Given the description of an element on the screen output the (x, y) to click on. 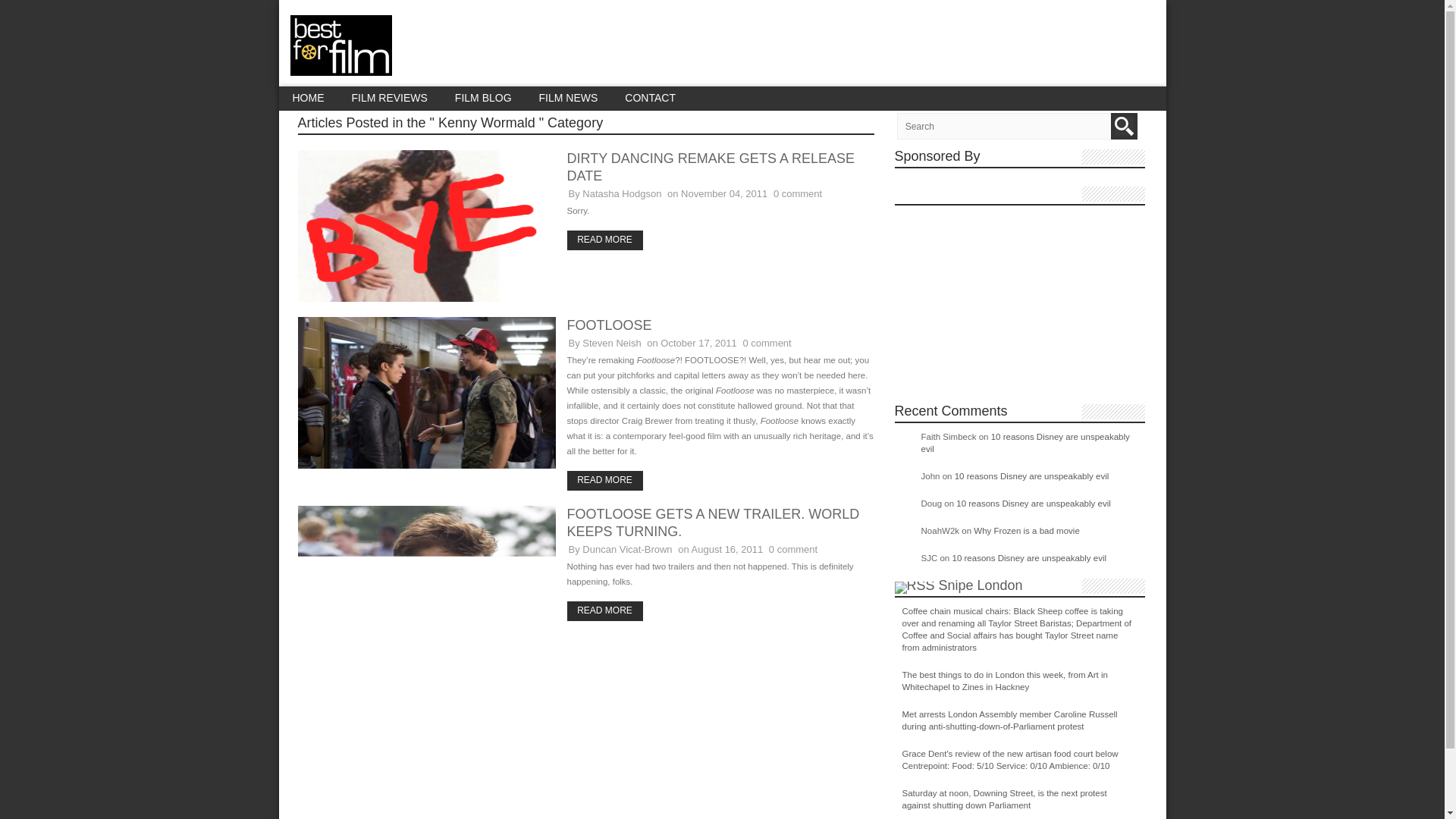
Dirty Dancing remake gets a release date (603, 239)
Duncan Vicat-Brown (626, 549)
FOOTLOOSE GETS A NEW TRAILER. WORLD KEEPS TURNING. (713, 522)
FOOTLOOSE (609, 324)
HOME (308, 97)
Footloose gets a new trailer. World keeps turning. (713, 522)
Search (1123, 126)
Footloose (425, 465)
Natasha Hodgson (621, 193)
READ MORE (603, 239)
